Given the description of an element on the screen output the (x, y) to click on. 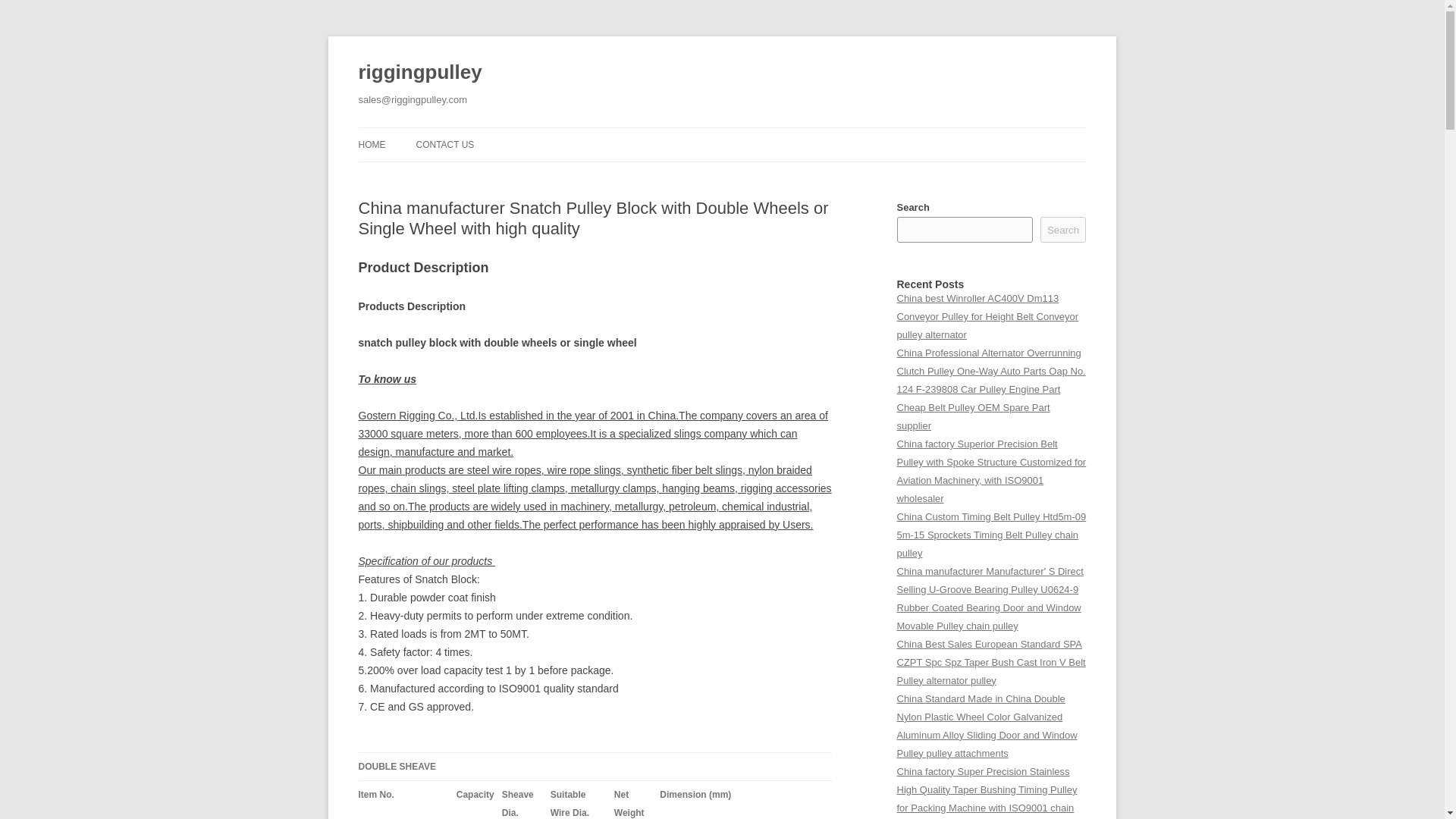
riggingpulley (419, 72)
riggingpulley (419, 72)
Search (1063, 229)
CONTACT US (444, 144)
